Given the description of an element on the screen output the (x, y) to click on. 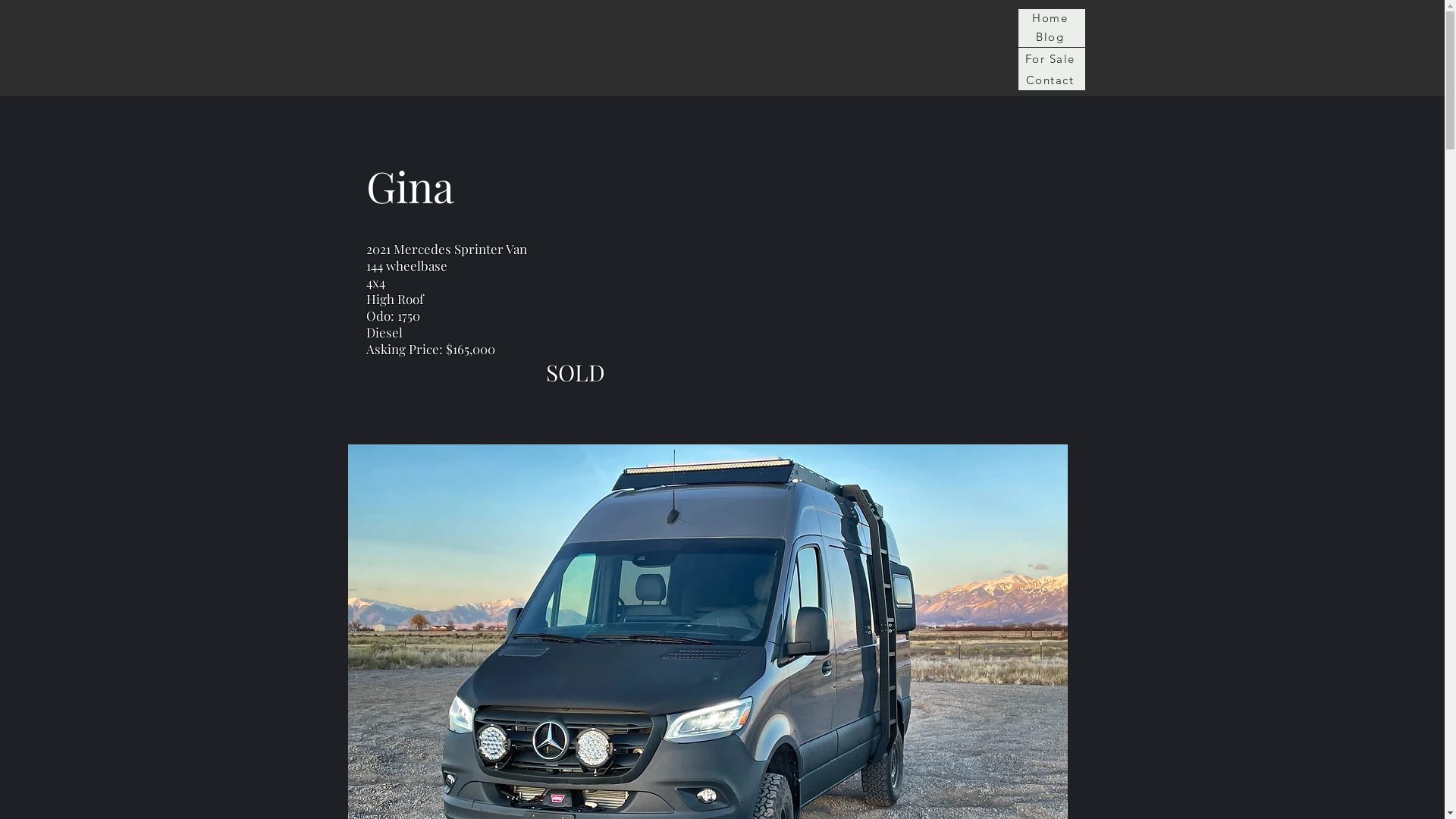
Home Element type: text (1050, 17)
Blog Element type: text (1050, 36)
Contact Element type: text (1050, 79)
For Sale Element type: text (1050, 58)
